Given the description of an element on the screen output the (x, y) to click on. 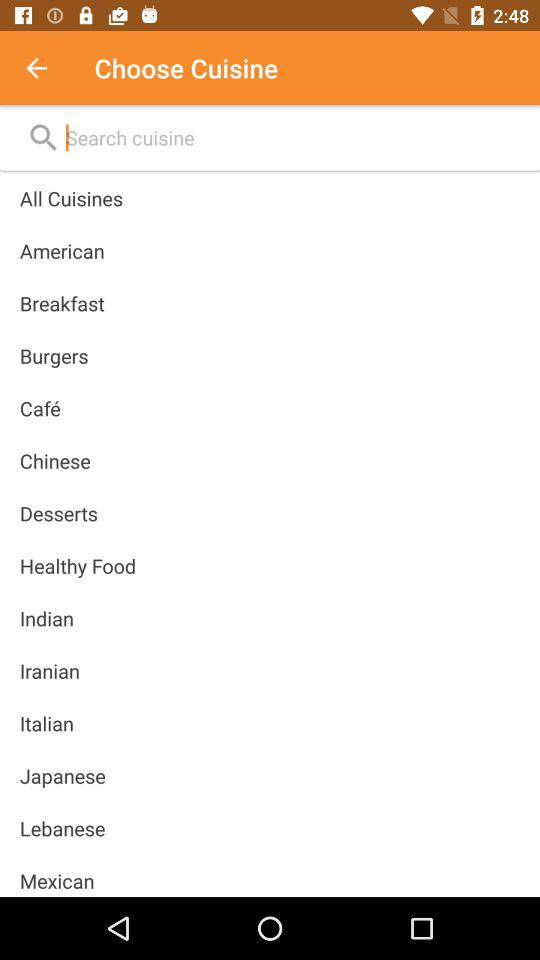
launch icon below japanese (62, 828)
